Given the description of an element on the screen output the (x, y) to click on. 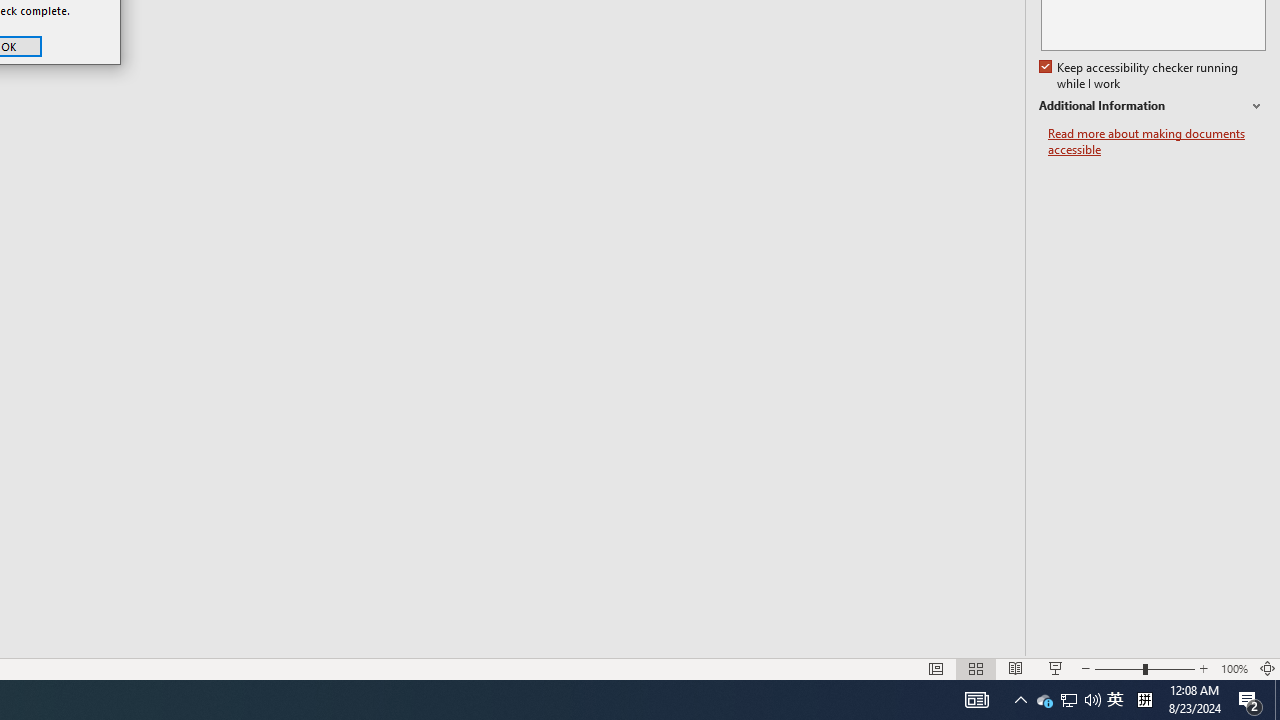
Zoom 100% (1234, 668)
